Given the description of an element on the screen output the (x, y) to click on. 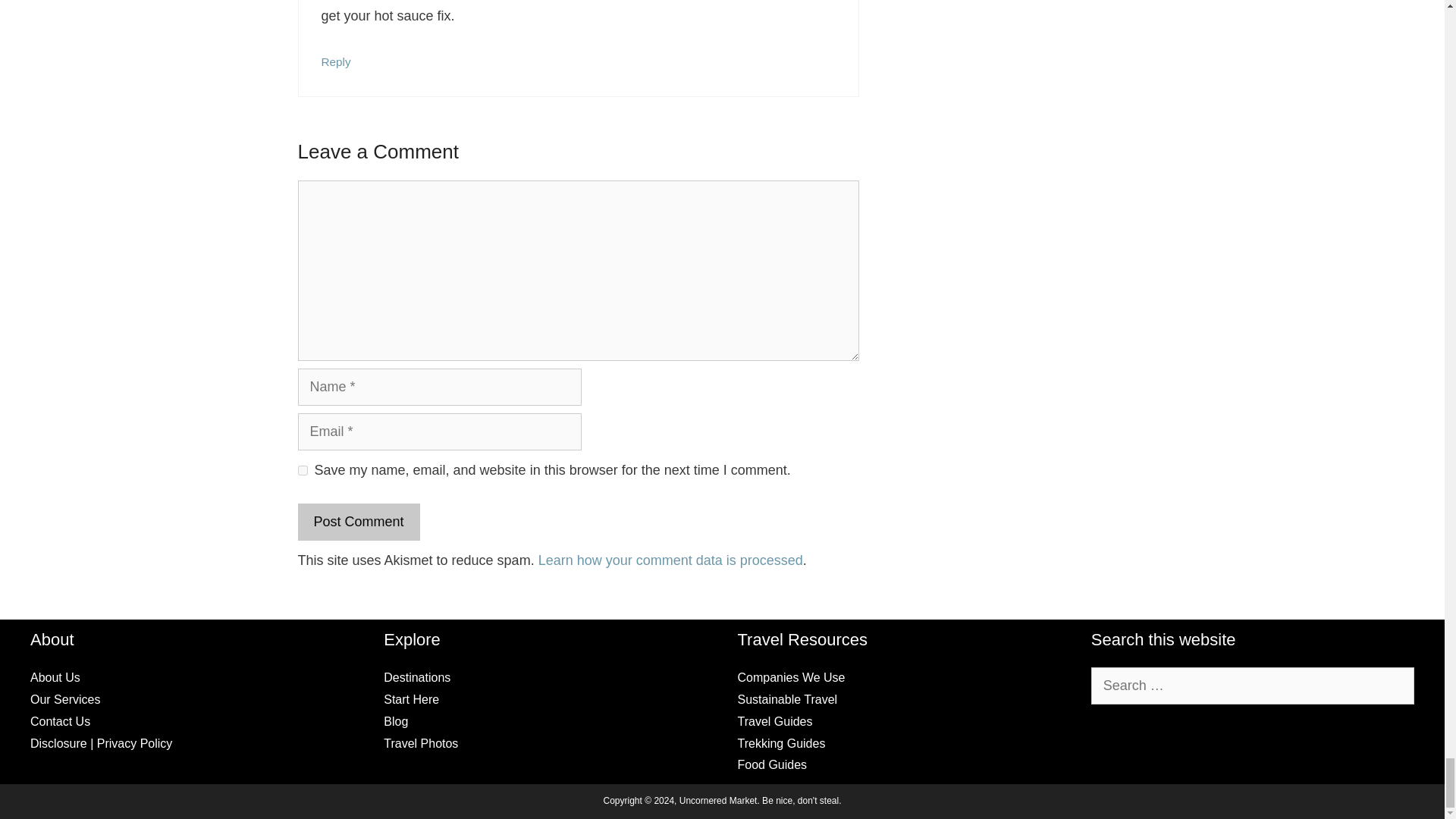
Post Comment (358, 521)
yes (302, 470)
